Given the description of an element on the screen output the (x, y) to click on. 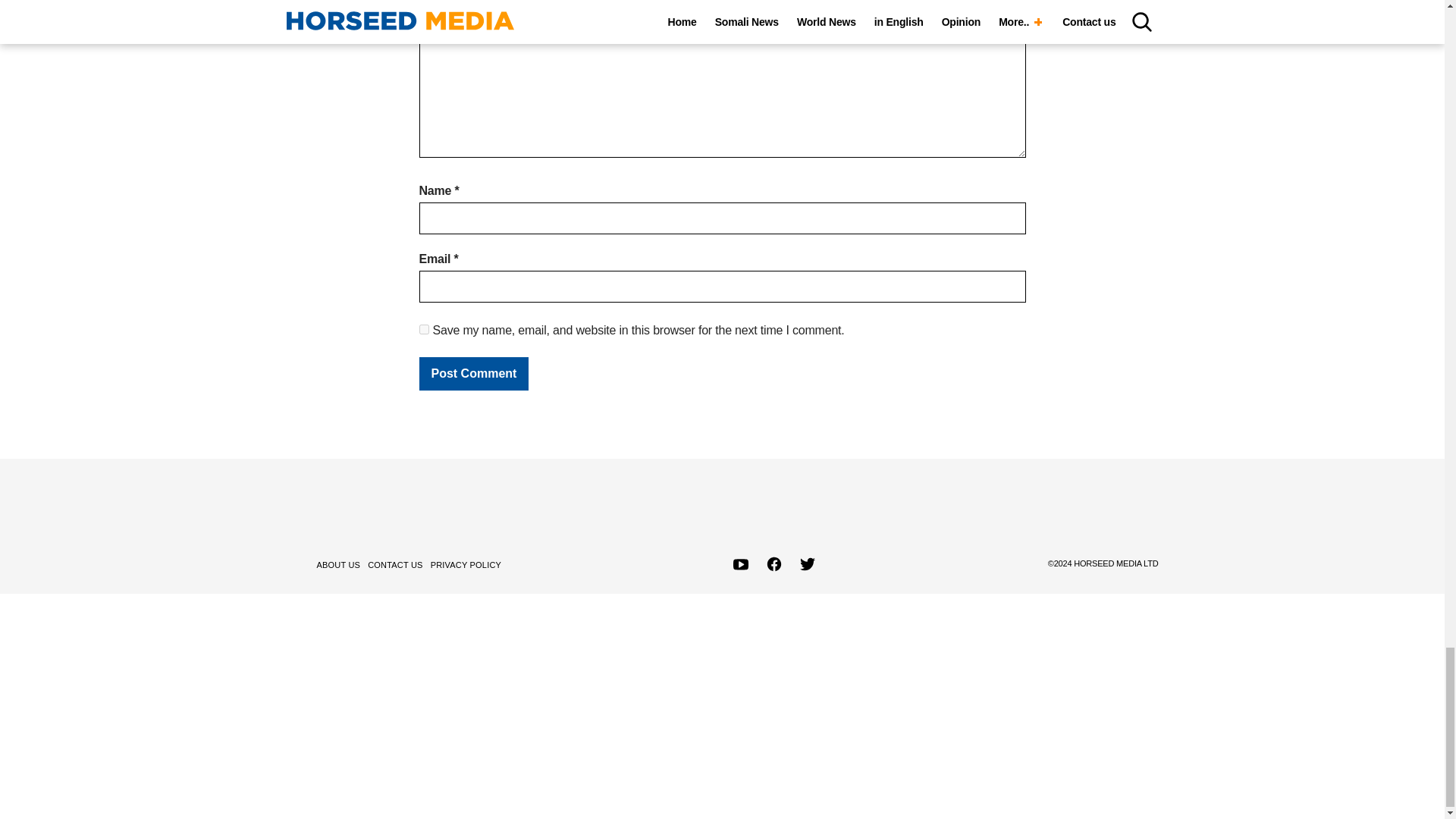
Post Comment (473, 373)
yes (423, 329)
